Given the description of an element on the screen output the (x, y) to click on. 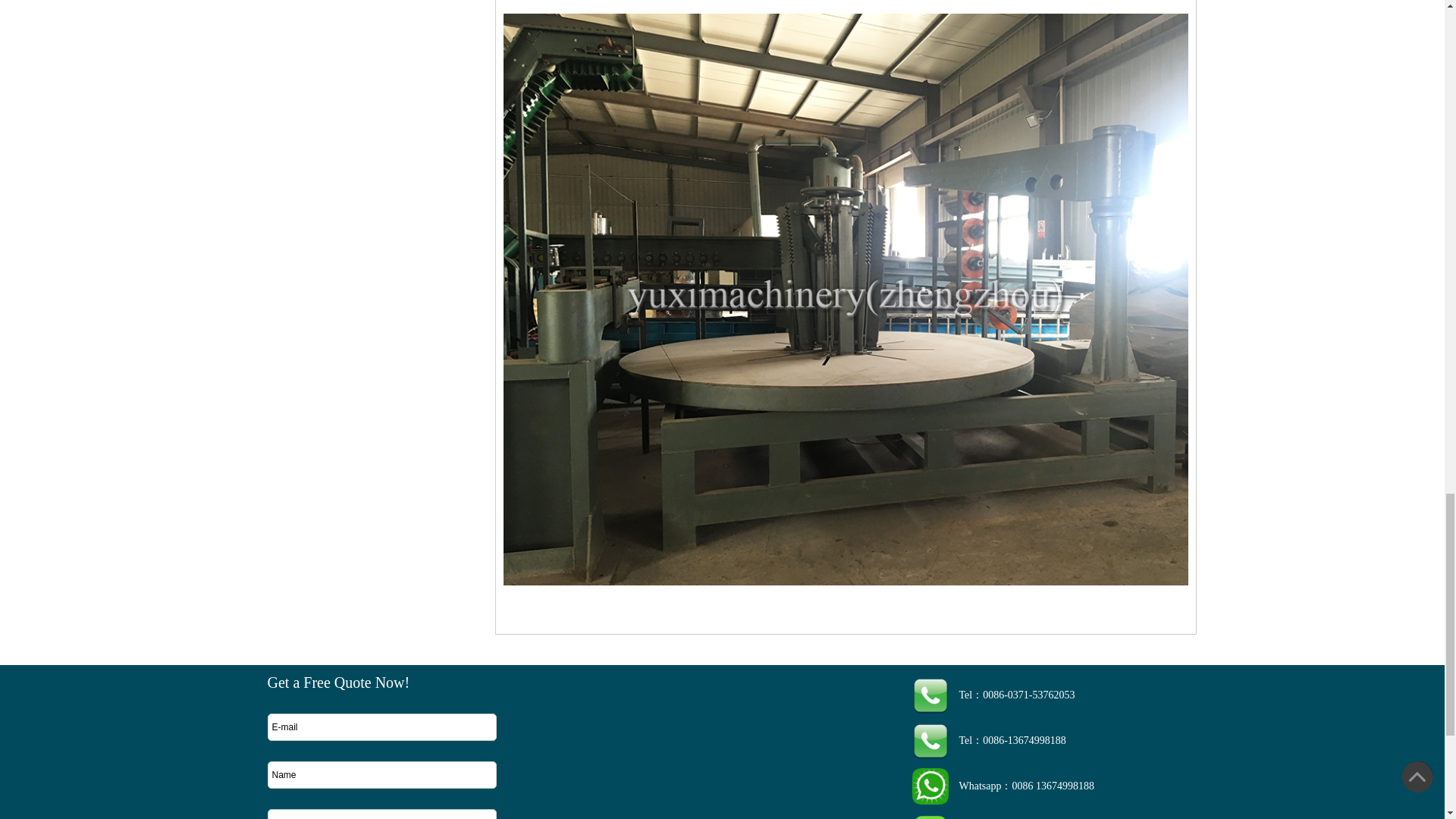
E-mail (381, 727)
Name (381, 774)
Phone (381, 814)
